Given the description of an element on the screen output the (x, y) to click on. 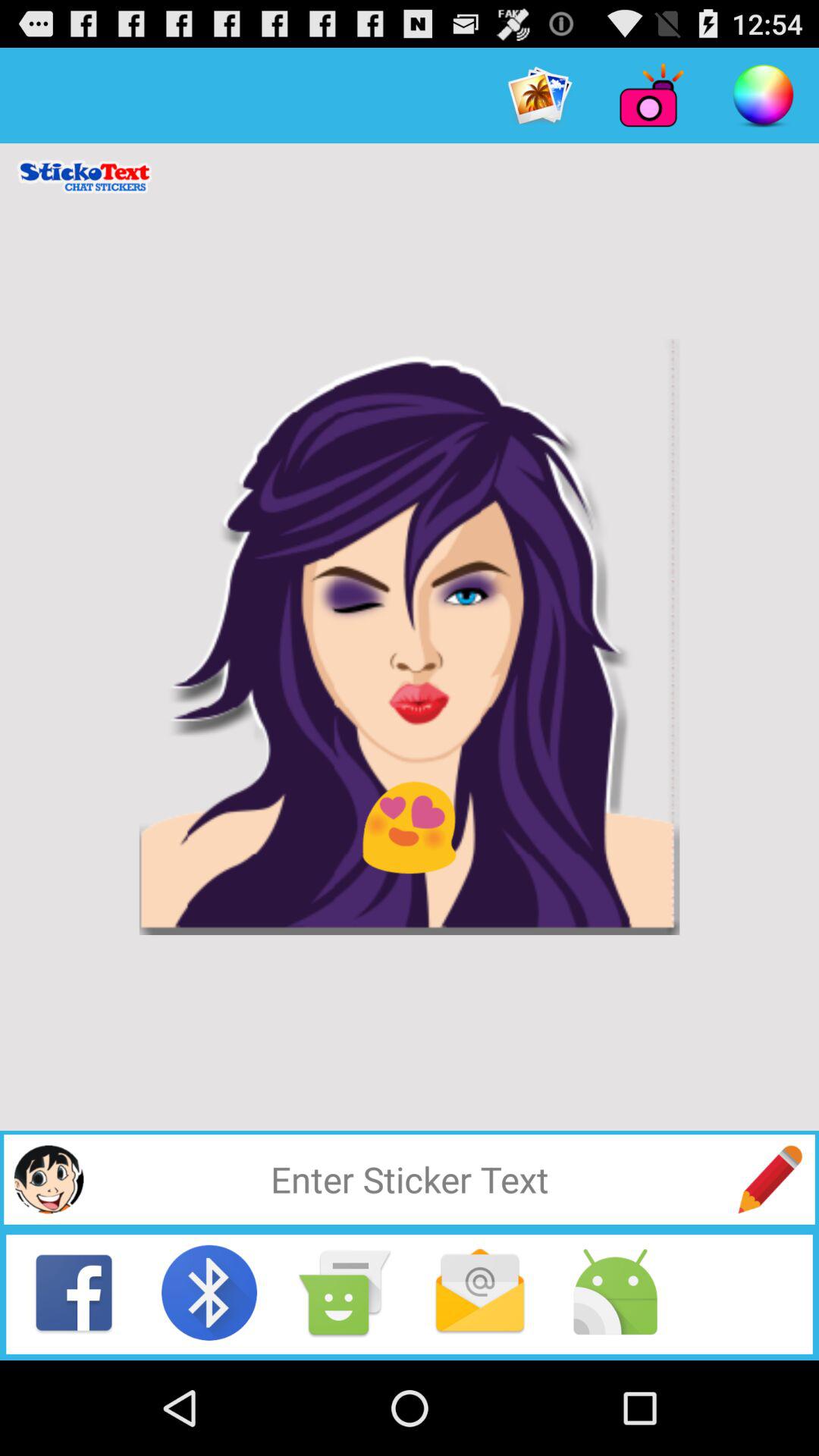
add text to sticker (409, 1179)
